Given the description of an element on the screen output the (x, y) to click on. 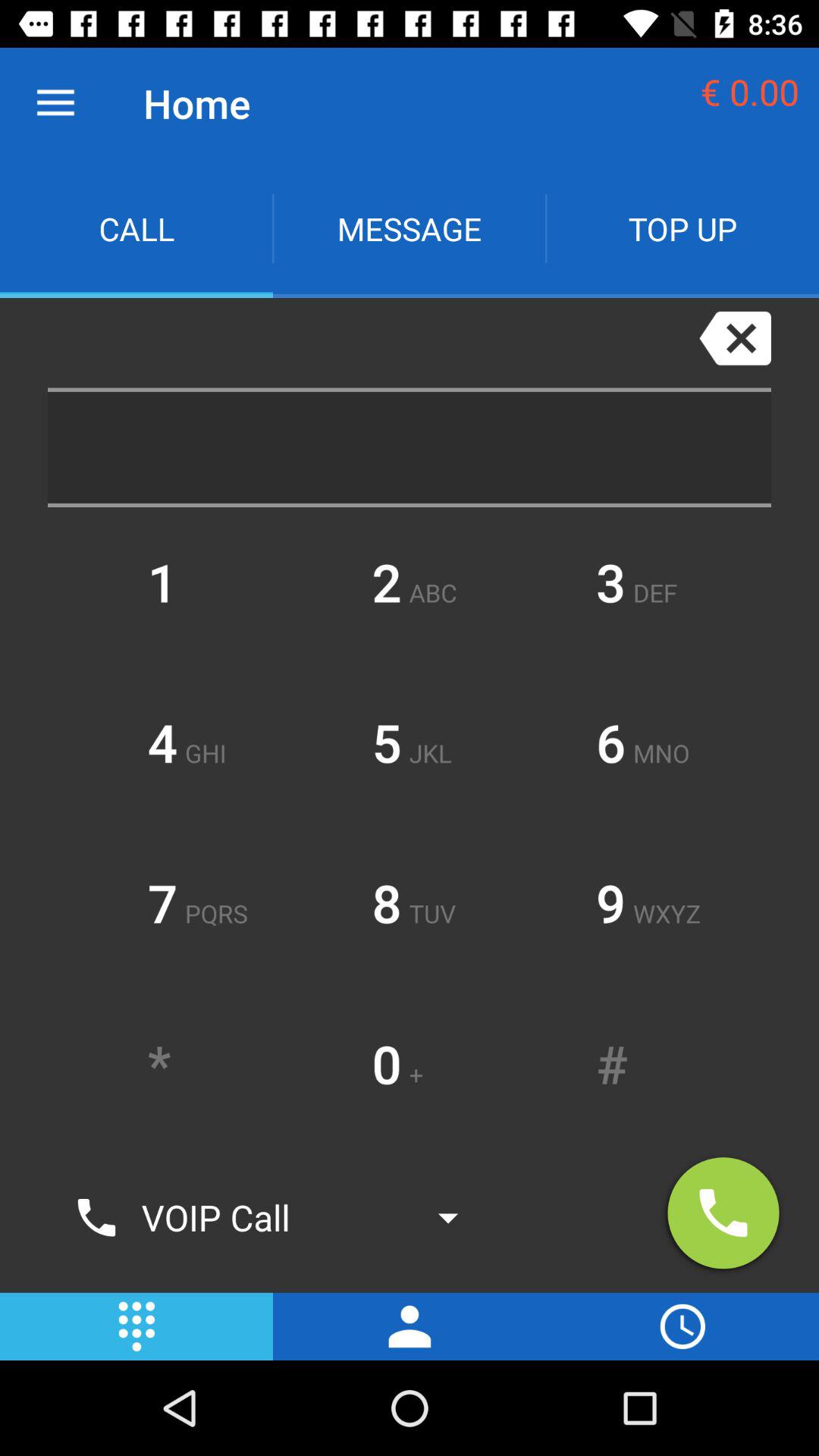
press app to the right of the message app (682, 228)
